Given the description of an element on the screen output the (x, y) to click on. 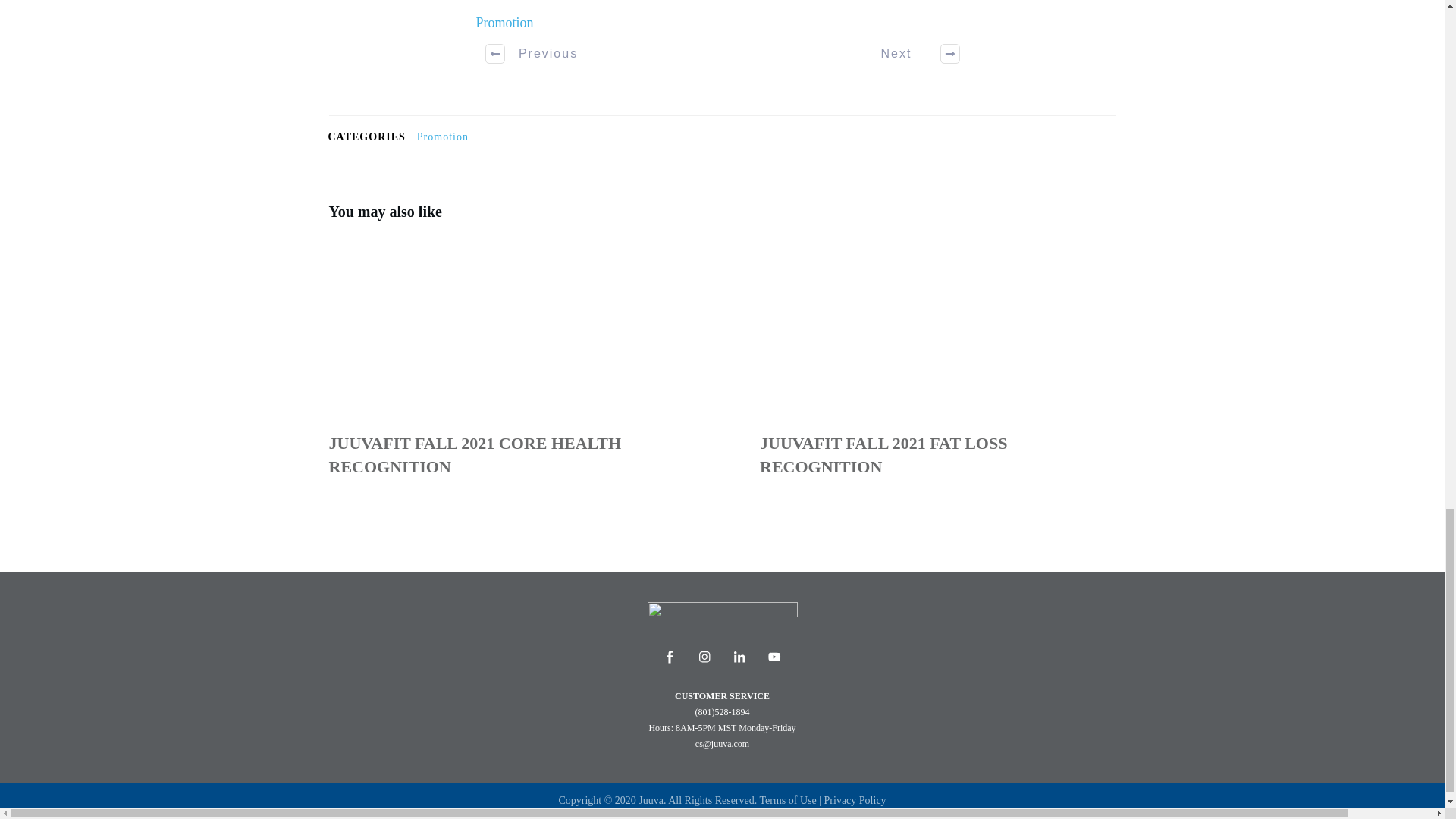
JuuvaFIT Fall 2021 Core Health Recognition (506, 366)
Promotion (505, 22)
Promotion (505, 22)
Promotion (442, 136)
JuuvaFIT Fall 2021 Core Health Recognition (475, 454)
Terms of Use (788, 799)
Next (912, 53)
JuuvaFIT Fall 2021 Fat Loss Recognition (883, 454)
Promotion (442, 136)
Previous (532, 53)
Privacy Policy (855, 799)
JuuvaFIT Fall 2021 Fat Loss Recognition (937, 366)
JUUVAFIT FALL 2021 FAT LOSS RECOGNITION (883, 454)
JUUVAFIT FALL 2021 CORE HEALTH RECOGNITION (475, 454)
